Given the description of an element on the screen output the (x, y) to click on. 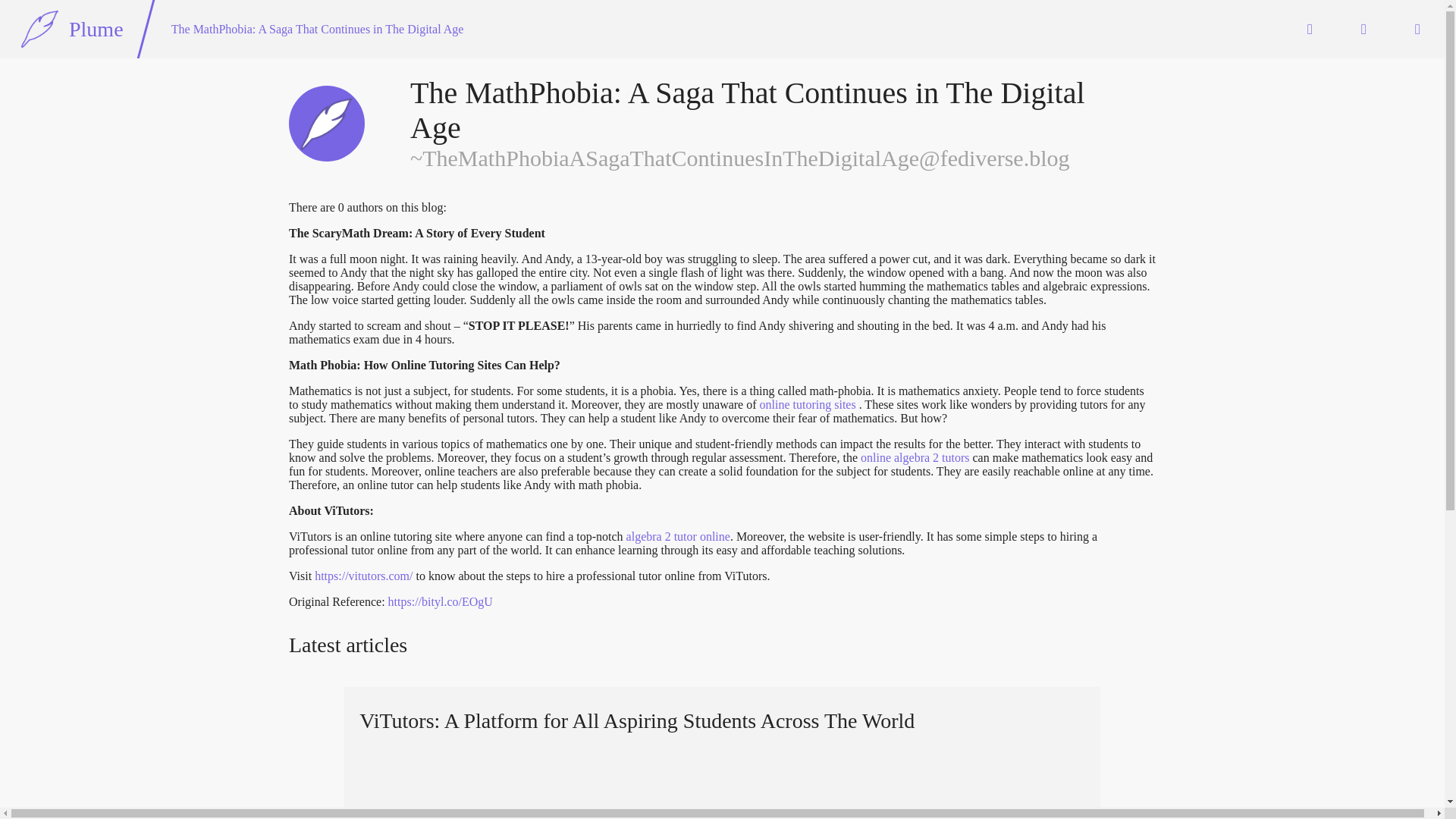
algebra 2 tutor online (678, 535)
Plume (72, 29)
Atom feed (437, 647)
online algebra 2 tutors (914, 457)
online tutoring sites (808, 404)
The MathPhobia: A Saga That Continues in The Digital Age (317, 29)
